Given the description of an element on the screen output the (x, y) to click on. 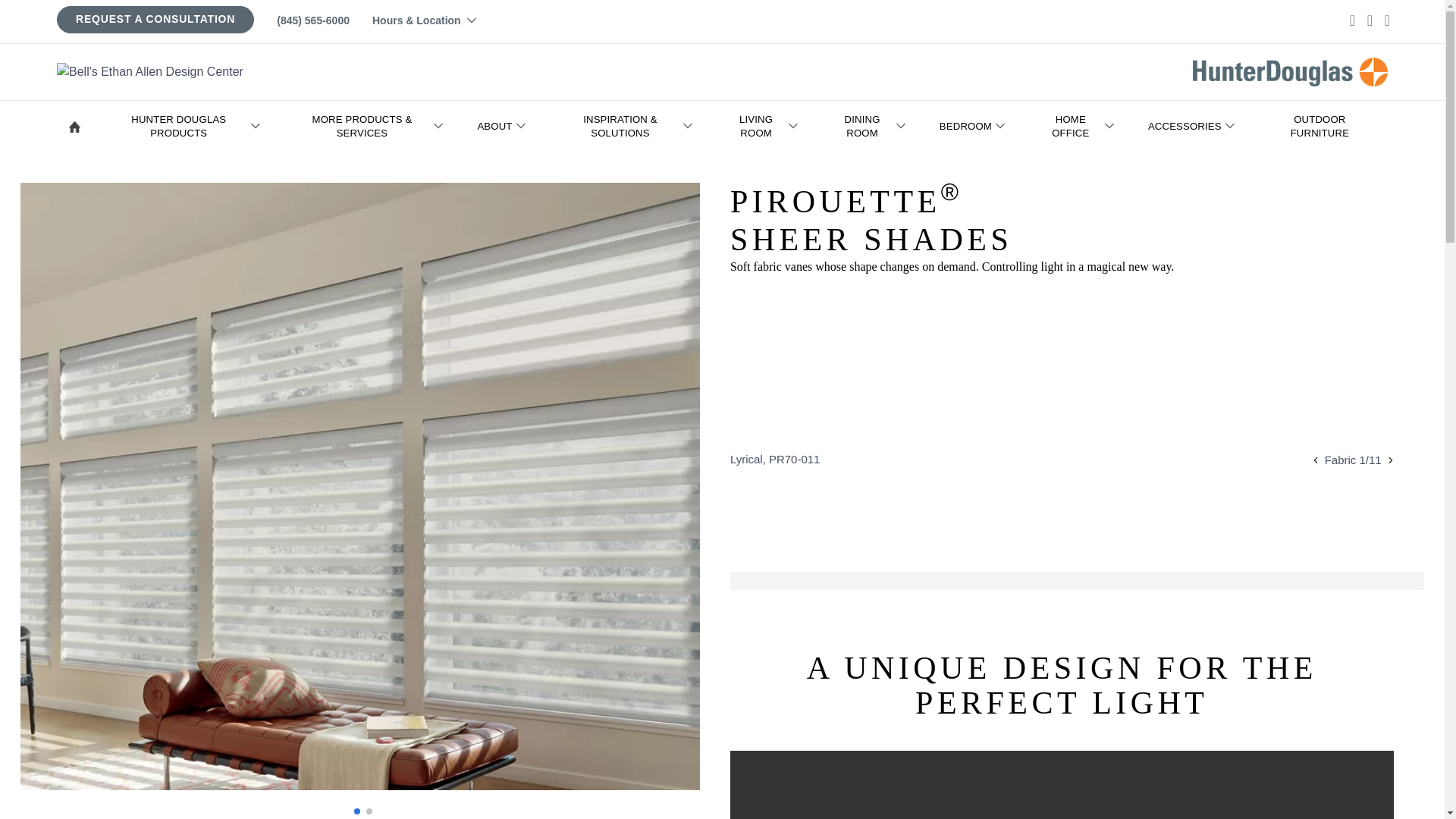
ABOUT (506, 126)
HOME OFFICE (1081, 126)
DINING ROOM (874, 126)
REQUEST A CONSULTATION (155, 18)
HUNTER DOUGLAS PRODUCTS (190, 126)
LIVING ROOM (767, 126)
BEDROOM (977, 126)
OUTDOOR FURNITURE (1322, 126)
ACCESSORIES (1196, 126)
